Given the description of an element on the screen output the (x, y) to click on. 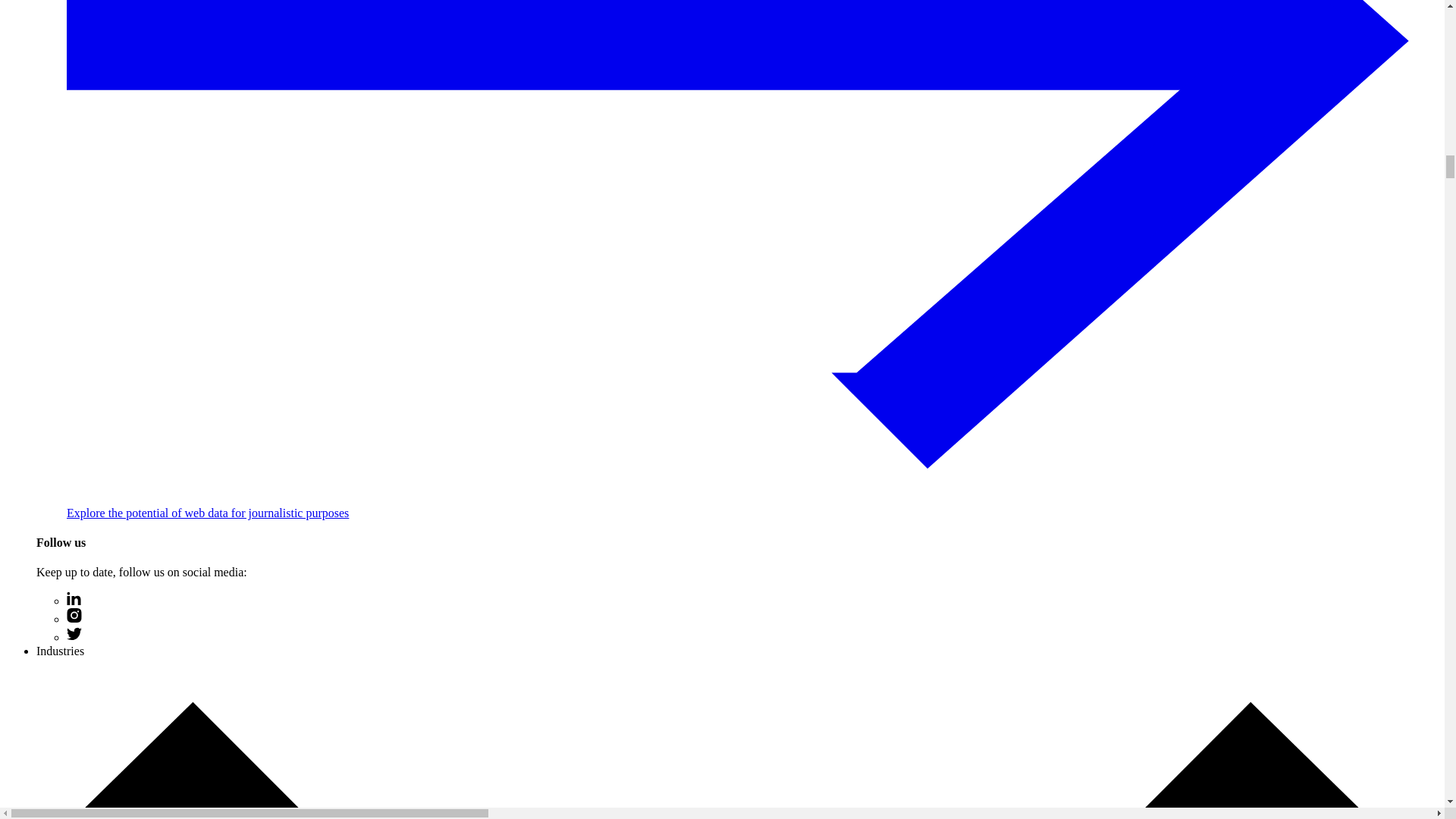
Visit our LinkedIn (73, 600)
Visit our Twitter (73, 636)
Visit our Instagram (73, 618)
